Given the description of an element on the screen output the (x, y) to click on. 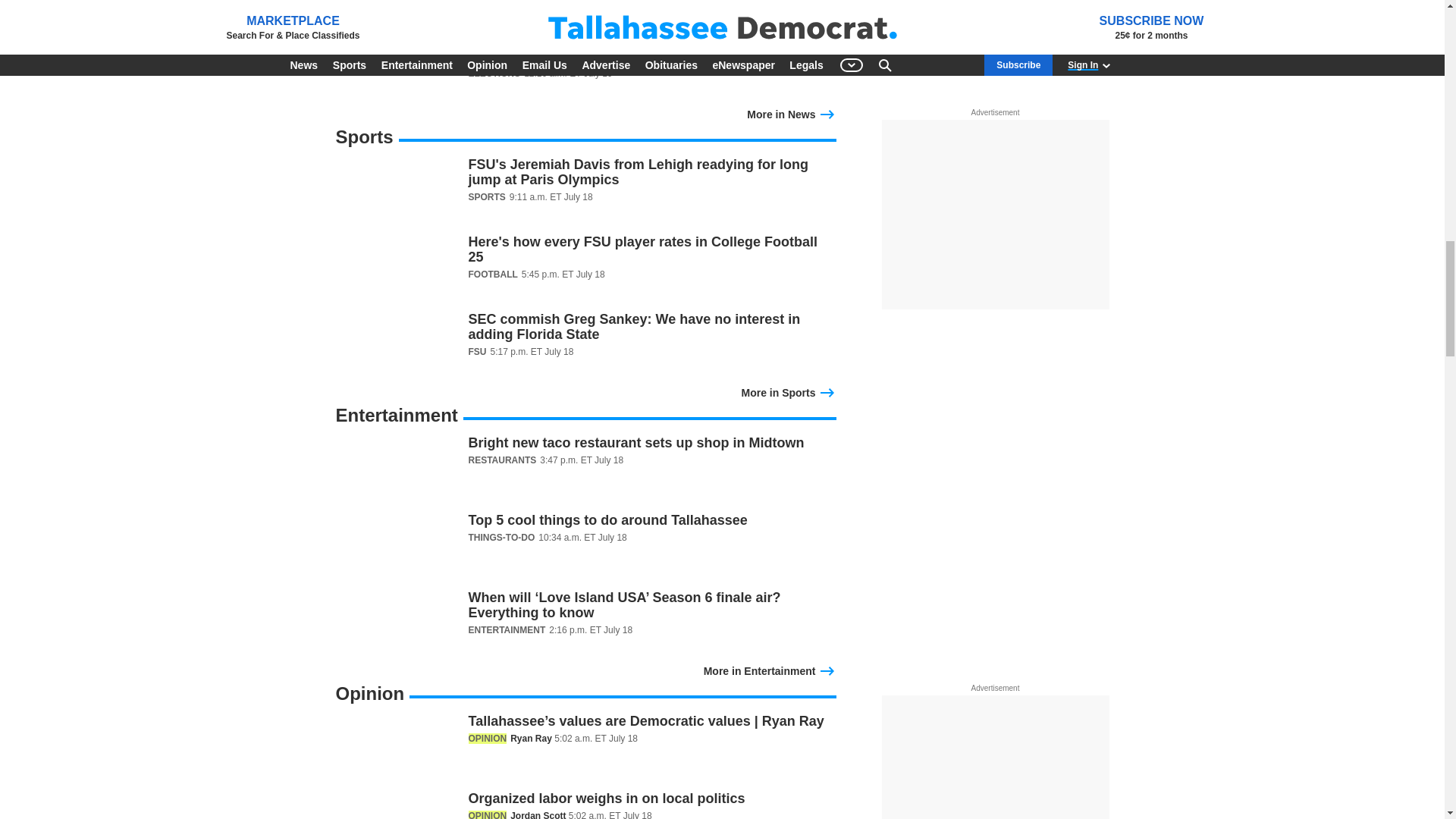
Here's how every FSU player rates in College Football 25  (584, 268)
More in News (790, 112)
